Given the description of an element on the screen output the (x, y) to click on. 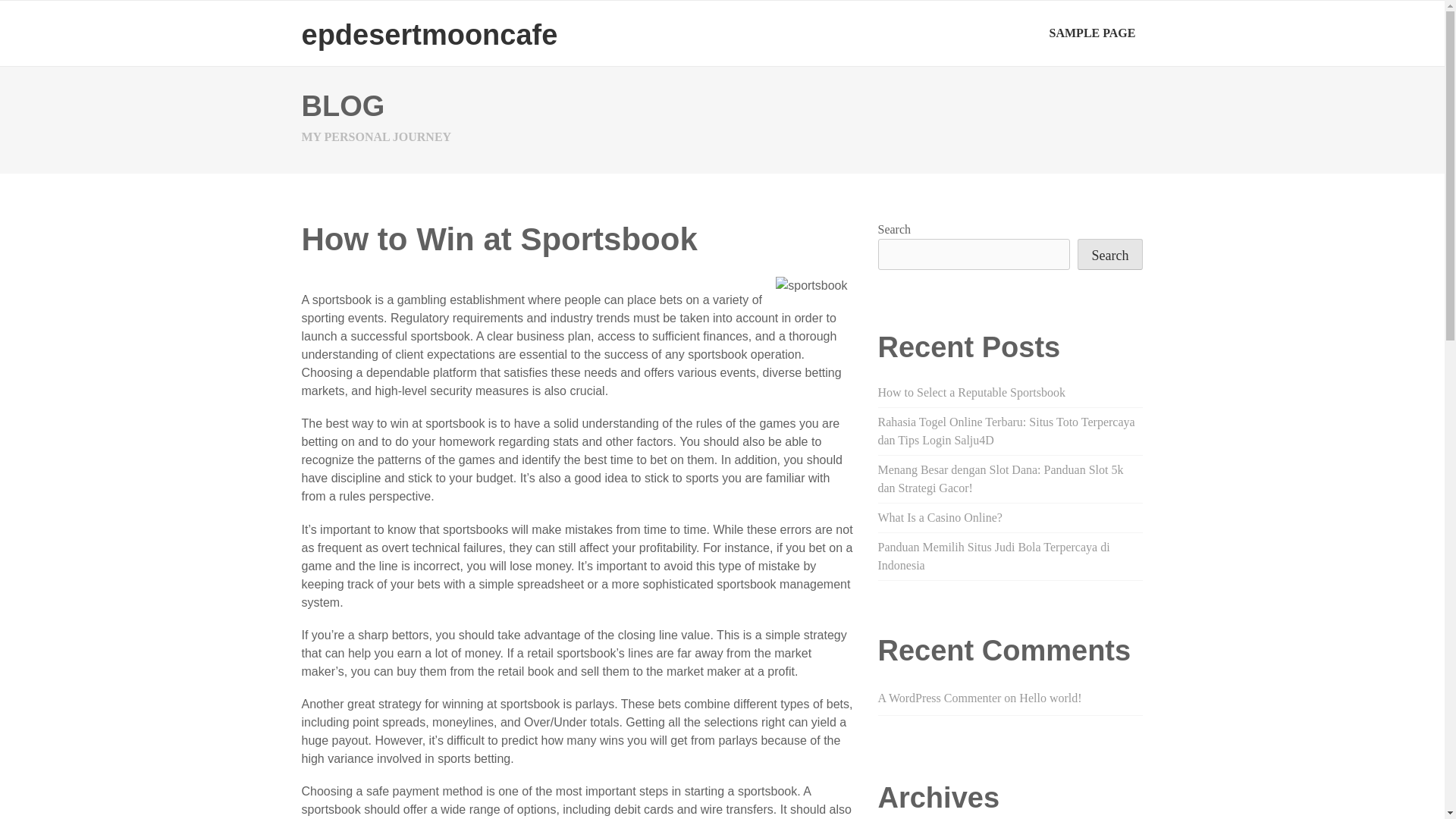
What Is a Casino Online? (940, 517)
How to Select a Reputable Sportsbook (971, 391)
Panduan Memilih Situs Judi Bola Terpercaya di Indonesia (993, 555)
SAMPLE PAGE (1092, 33)
Hello world! (1050, 697)
Search (1109, 254)
A WordPress Commenter (939, 697)
epdesertmooncafe (429, 34)
